Given the description of an element on the screen output the (x, y) to click on. 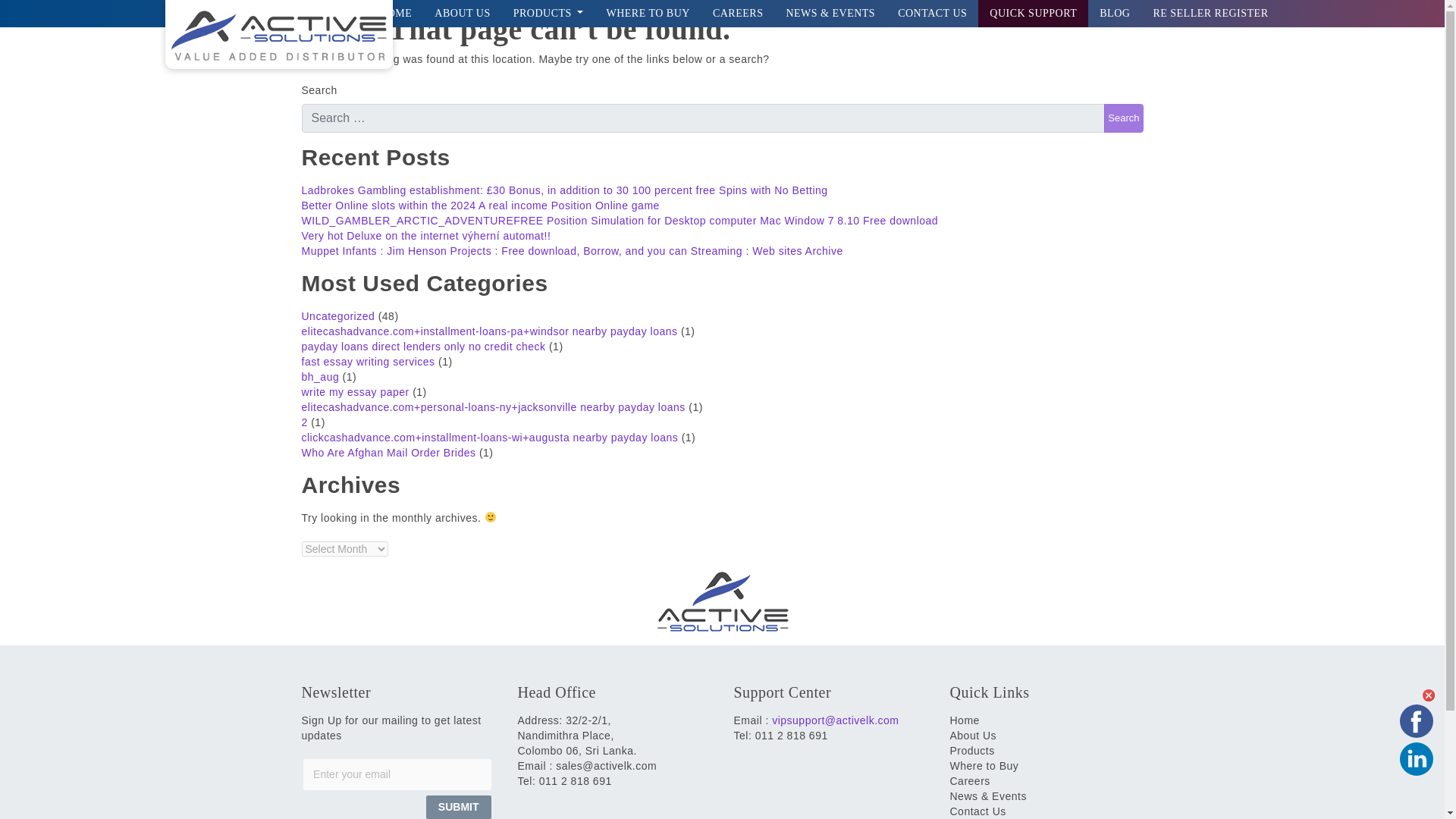
Quick Support (1032, 13)
HOME (395, 13)
Where to Buy (647, 13)
About Us (461, 13)
RE SELLER REGISTER (1210, 13)
WHERE TO BUY (647, 13)
Careers (737, 13)
PRODUCTS (548, 13)
